Given the description of an element on the screen output the (x, y) to click on. 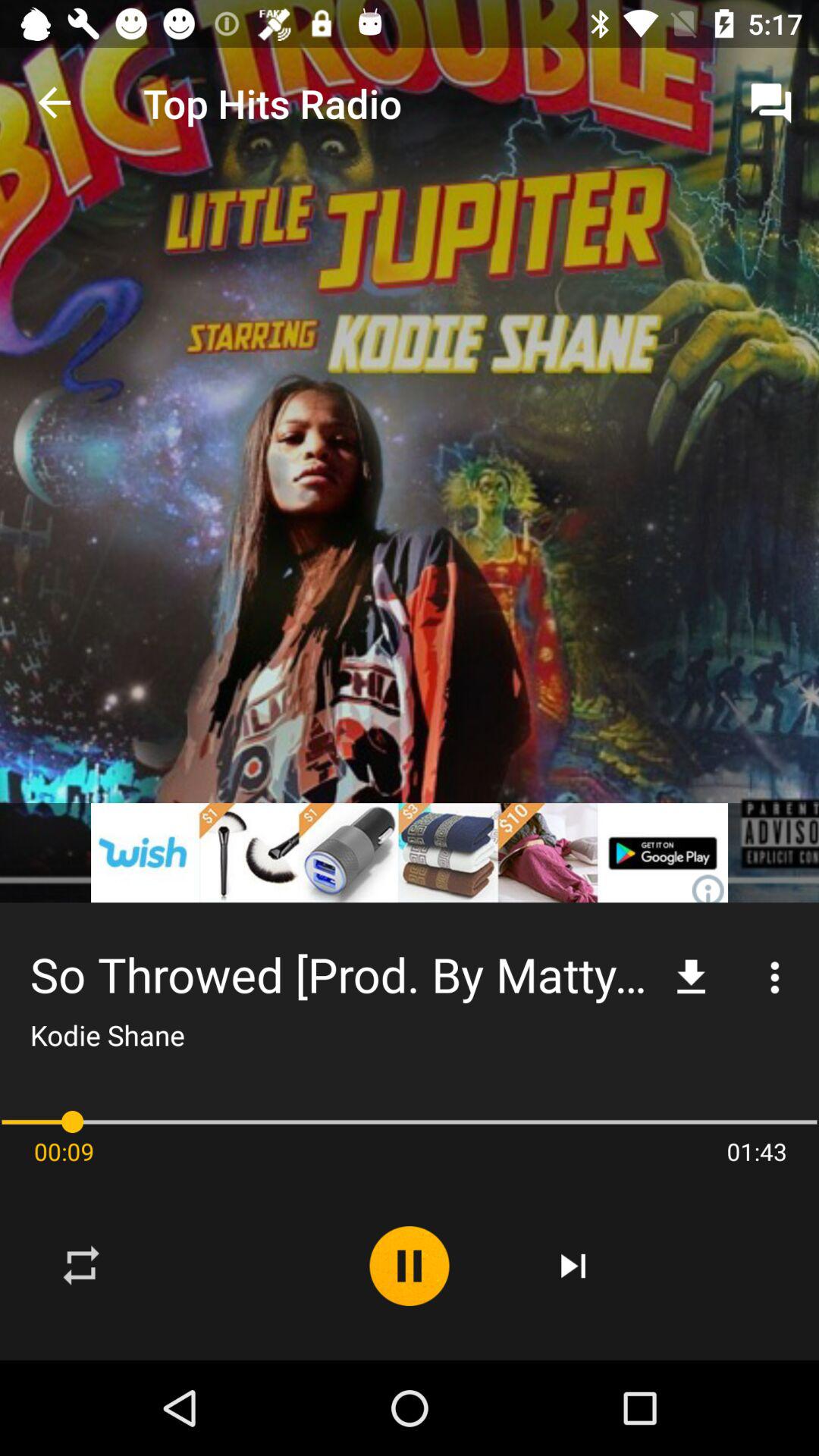
click the item to the right of the so throwed prod item (691, 977)
